Given the description of an element on the screen output the (x, y) to click on. 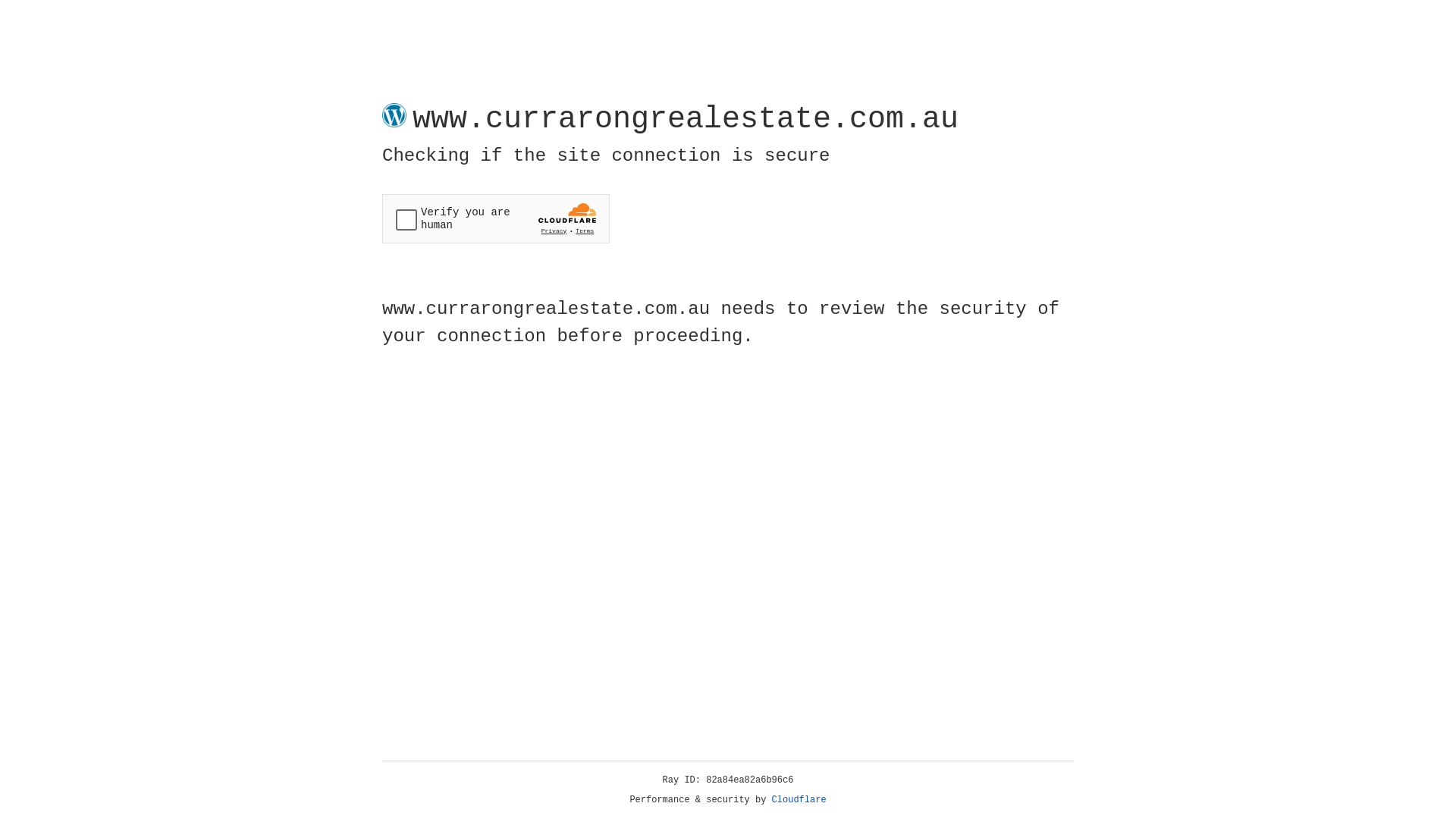
Widget containing a Cloudflare security challenge Element type: hover (495, 218)
Cloudflare Element type: text (798, 799)
